Given the description of an element on the screen output the (x, y) to click on. 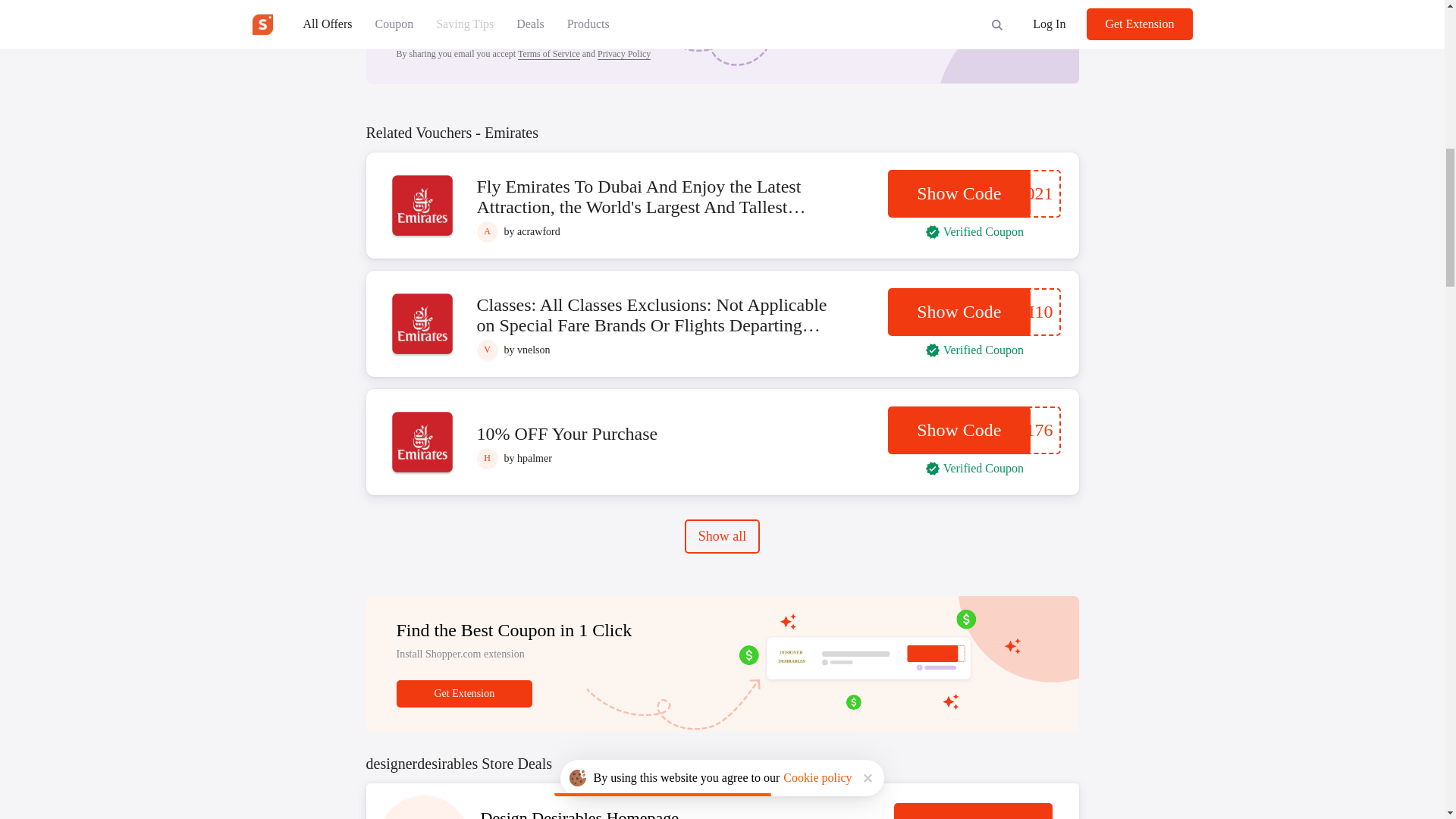
Show Code (958, 193)
Subscribe (634, 11)
Privacy Policy (623, 53)
Get Extension (464, 693)
Show all (722, 536)
Get Deal (972, 811)
Show all (722, 535)
Show Code (958, 430)
